Given the description of an element on the screen output the (x, y) to click on. 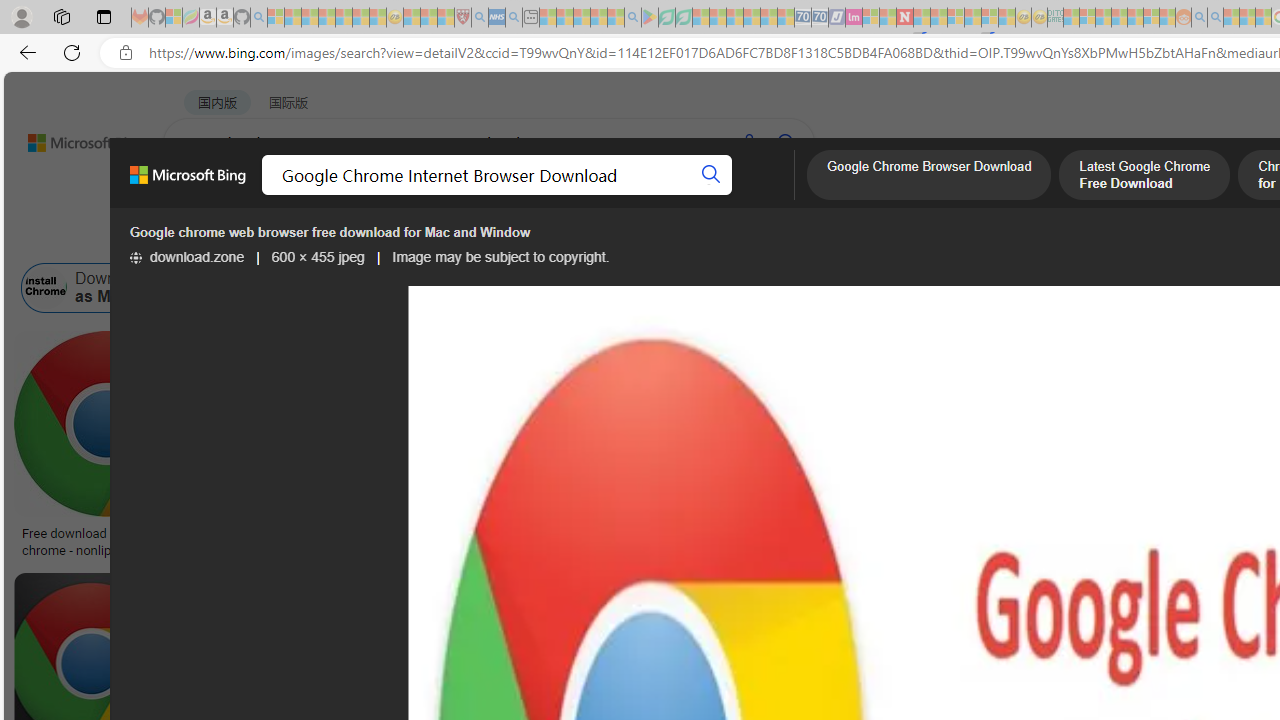
Install Google Chrome Web Browser (1142, 287)
Image size (222, 237)
Free download google chrome - nonlipat (106, 541)
Back to Bing search (73, 138)
Color (305, 237)
DICT (717, 195)
Download video online chrome - hresadish (332, 541)
